Given the description of an element on the screen output the (x, y) to click on. 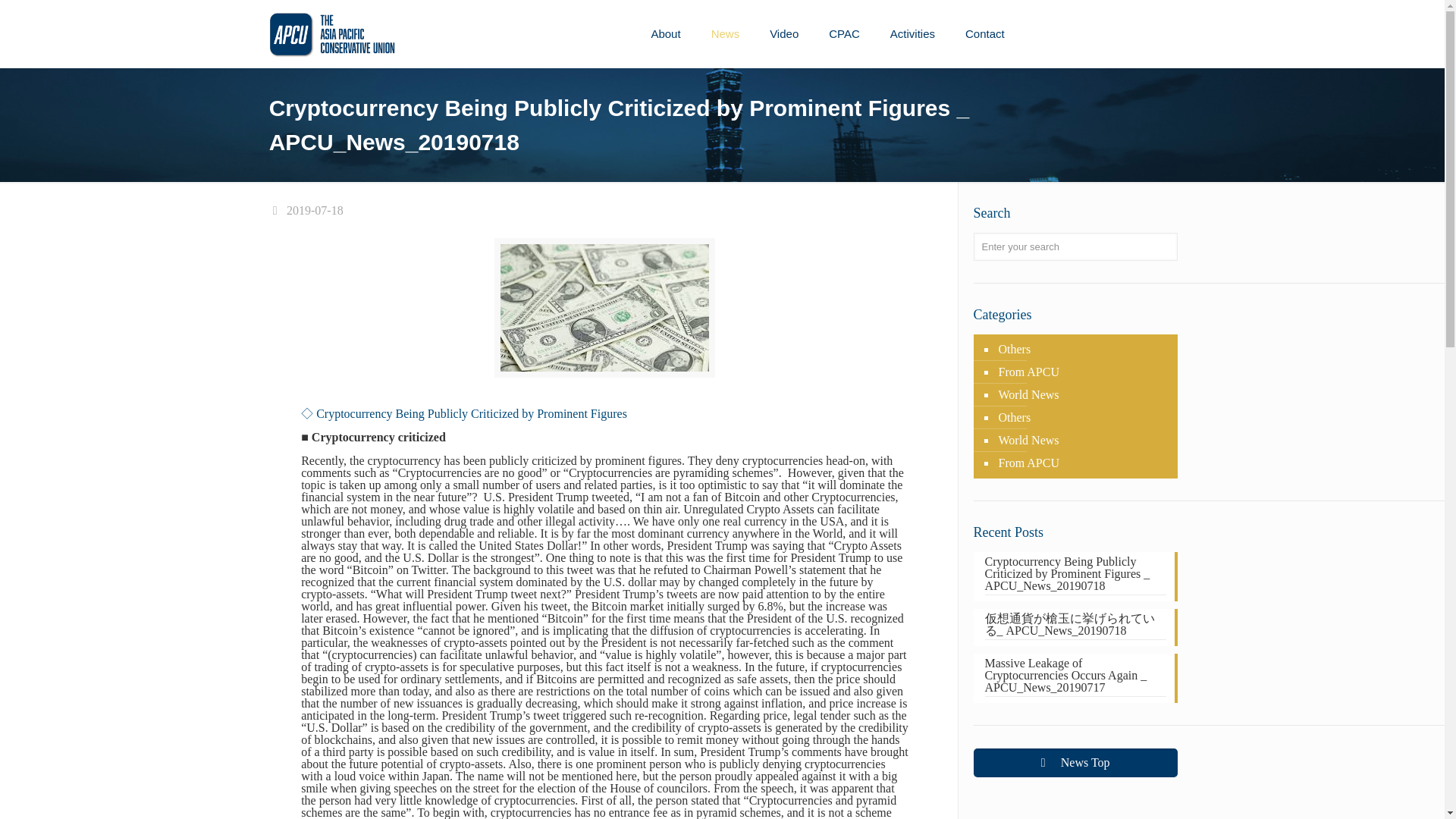
From APCU (1082, 372)
News Top (1075, 762)
Others (1082, 349)
World News (1082, 440)
Others (1082, 417)
World News (1082, 395)
From APCU (1082, 463)
Activities (912, 33)
CPAC (844, 33)
APCU (332, 33)
Contact (985, 33)
